Given the description of an element on the screen output the (x, y) to click on. 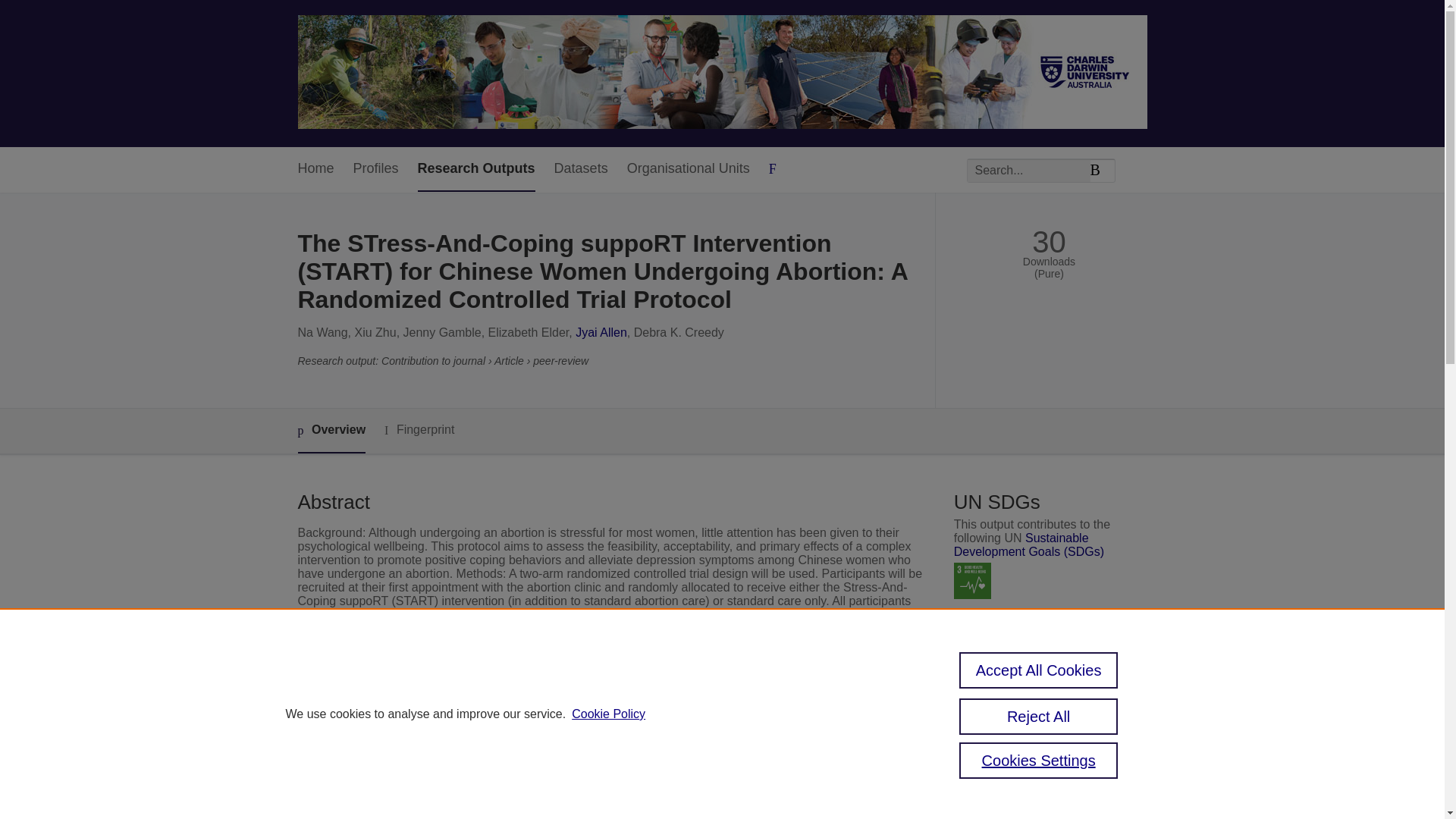
Profiles (375, 169)
SDG 3 - Good Health and Well-being (972, 580)
Link to publication in Scopus (1045, 765)
Datasets (581, 169)
Research Outputs (476, 169)
Charles Darwin University Home (722, 73)
Overview (331, 430)
CC BY (1020, 706)
68918236-oa (1001, 677)
Fingerprint (419, 430)
Jyai Allen (601, 332)
Organisational Units (688, 169)
